Given the description of an element on the screen output the (x, y) to click on. 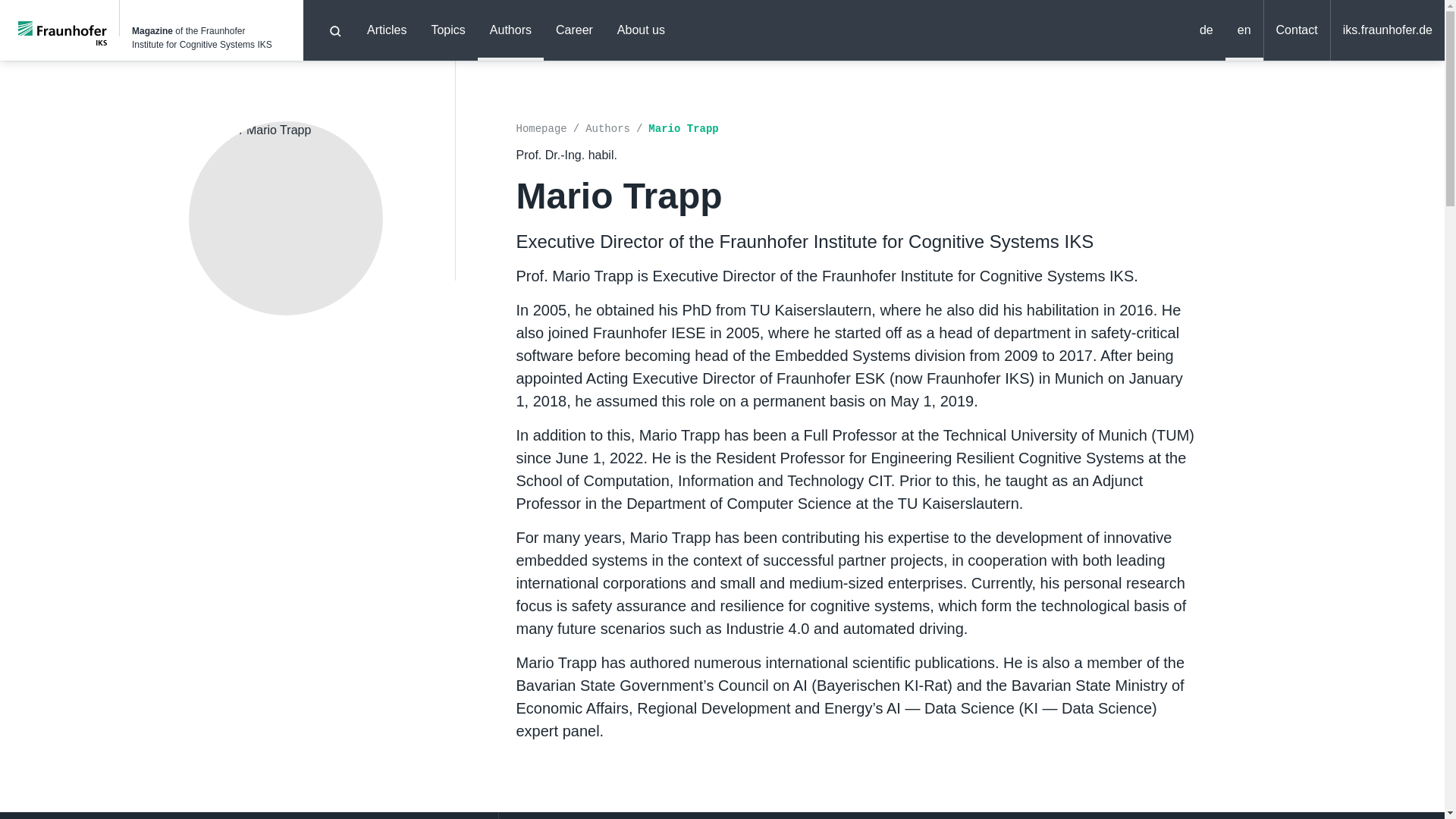
Contact (1296, 30)
Authors (616, 128)
Homepage (550, 128)
Search (335, 30)
Authors (510, 30)
en (1244, 30)
Articles (387, 30)
de (1206, 30)
Career (574, 30)
Topics (448, 30)
About us (641, 30)
Mario Trapp (682, 128)
